Given the description of an element on the screen output the (x, y) to click on. 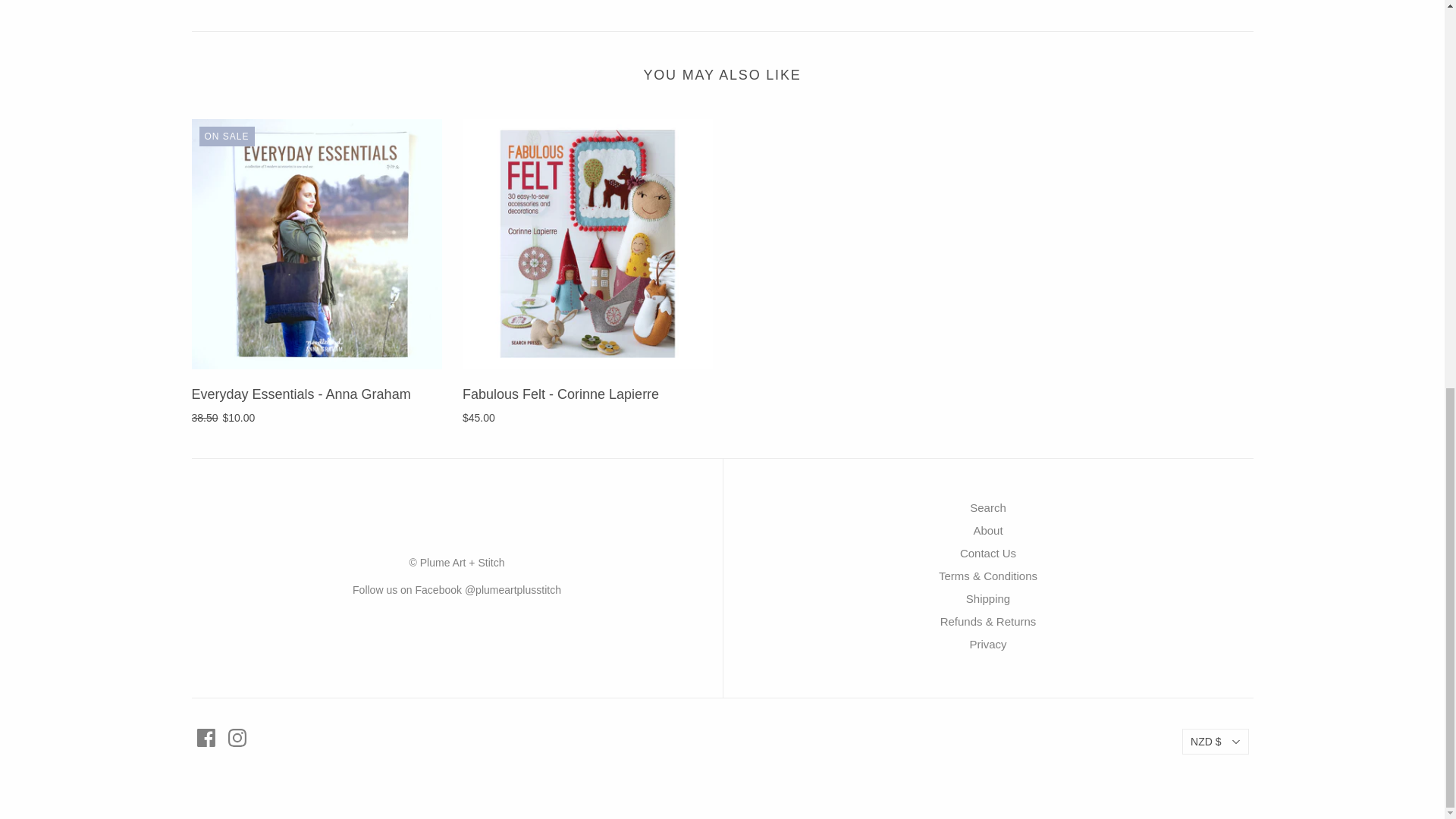
Facebook Icon (205, 737)
Instagram Icon (237, 737)
